Given the description of an element on the screen output the (x, y) to click on. 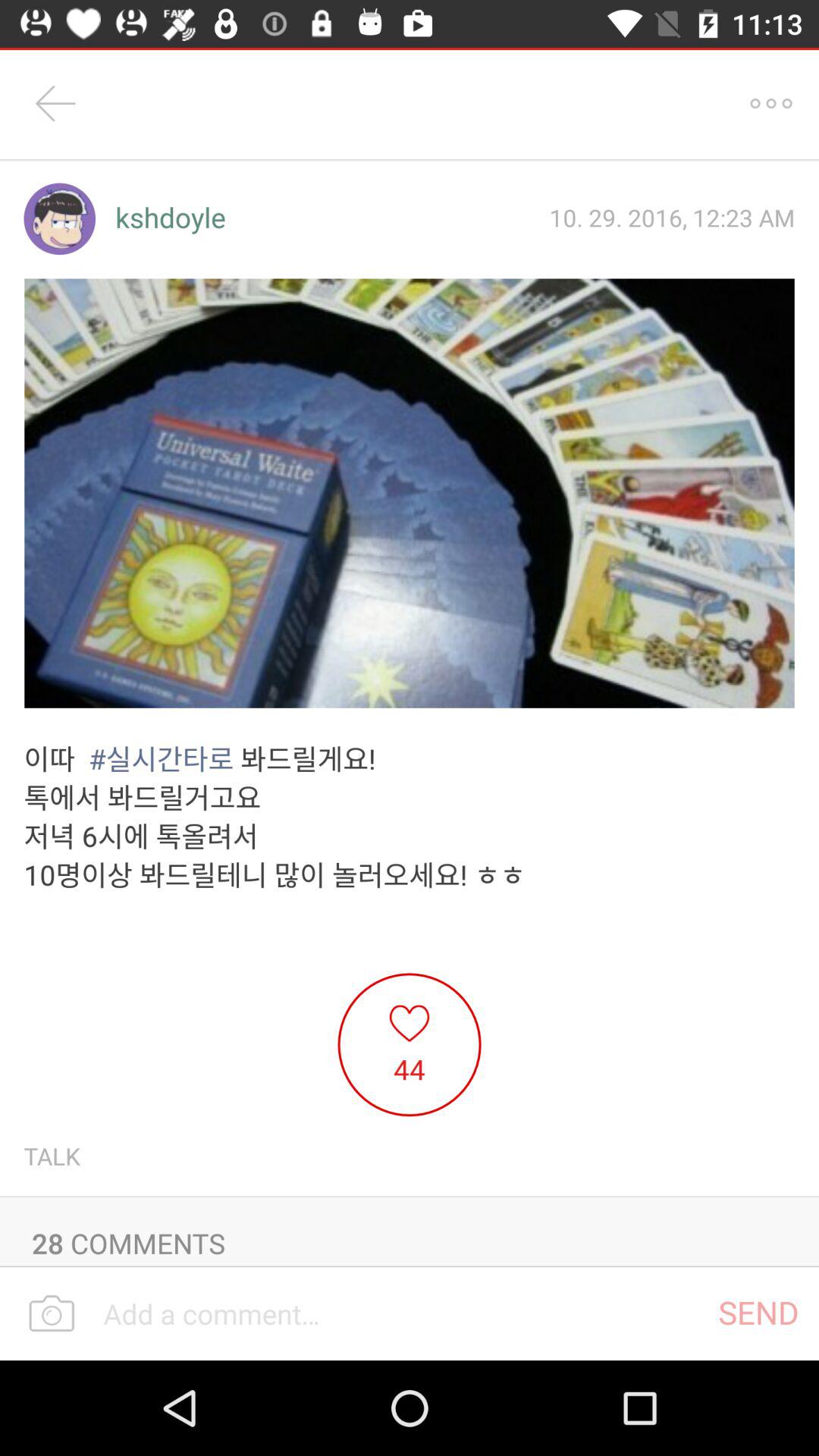
maximize picture (409, 493)
